Given the description of an element on the screen output the (x, y) to click on. 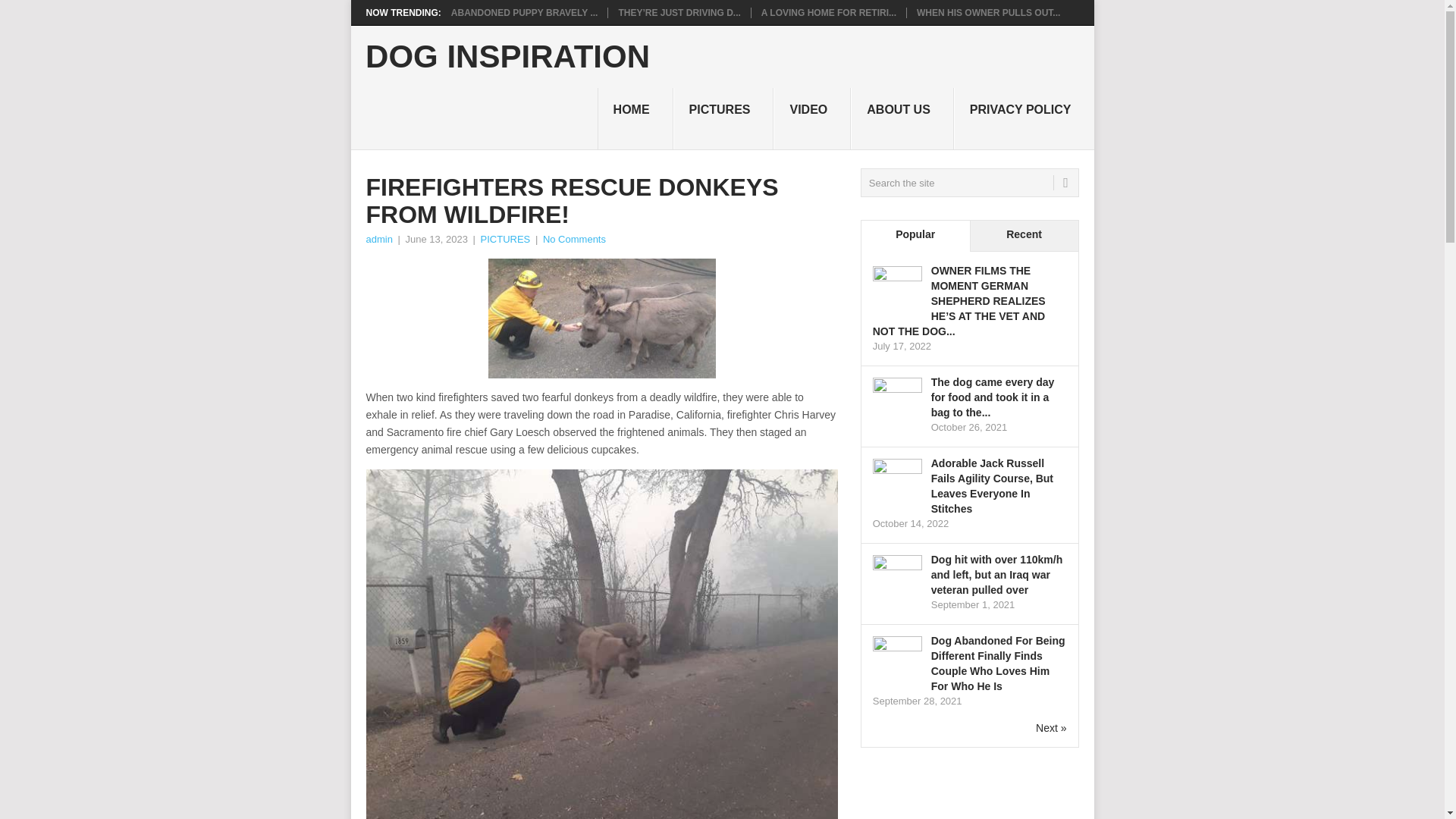
PICTURES (505, 238)
WHEN HIS OWNER PULLS OUT... (988, 12)
Recent (1023, 235)
Search the site (969, 182)
No Comments (574, 238)
admin (378, 238)
PICTURES (723, 118)
